Given the description of an element on the screen output the (x, y) to click on. 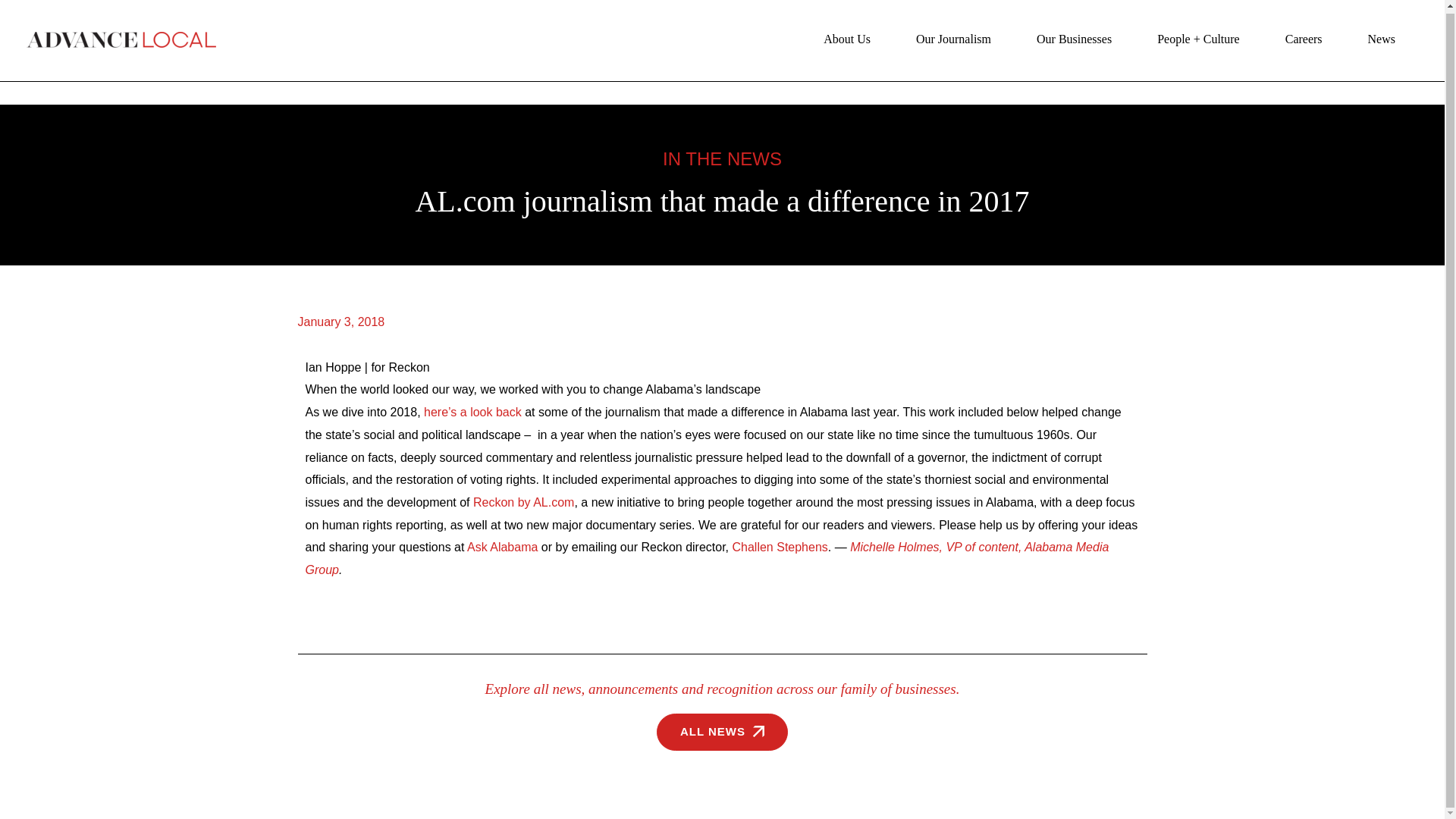
About Us (846, 39)
Michelle Holmes, VP of content, Alabama Media Group (706, 558)
Ask Alabama (502, 546)
Challen Stephens (780, 546)
Careers (1303, 39)
Our Journalism (953, 39)
News (1381, 39)
Our Businesses (1073, 39)
Reckon by AL.com (523, 502)
